Given the description of an element on the screen output the (x, y) to click on. 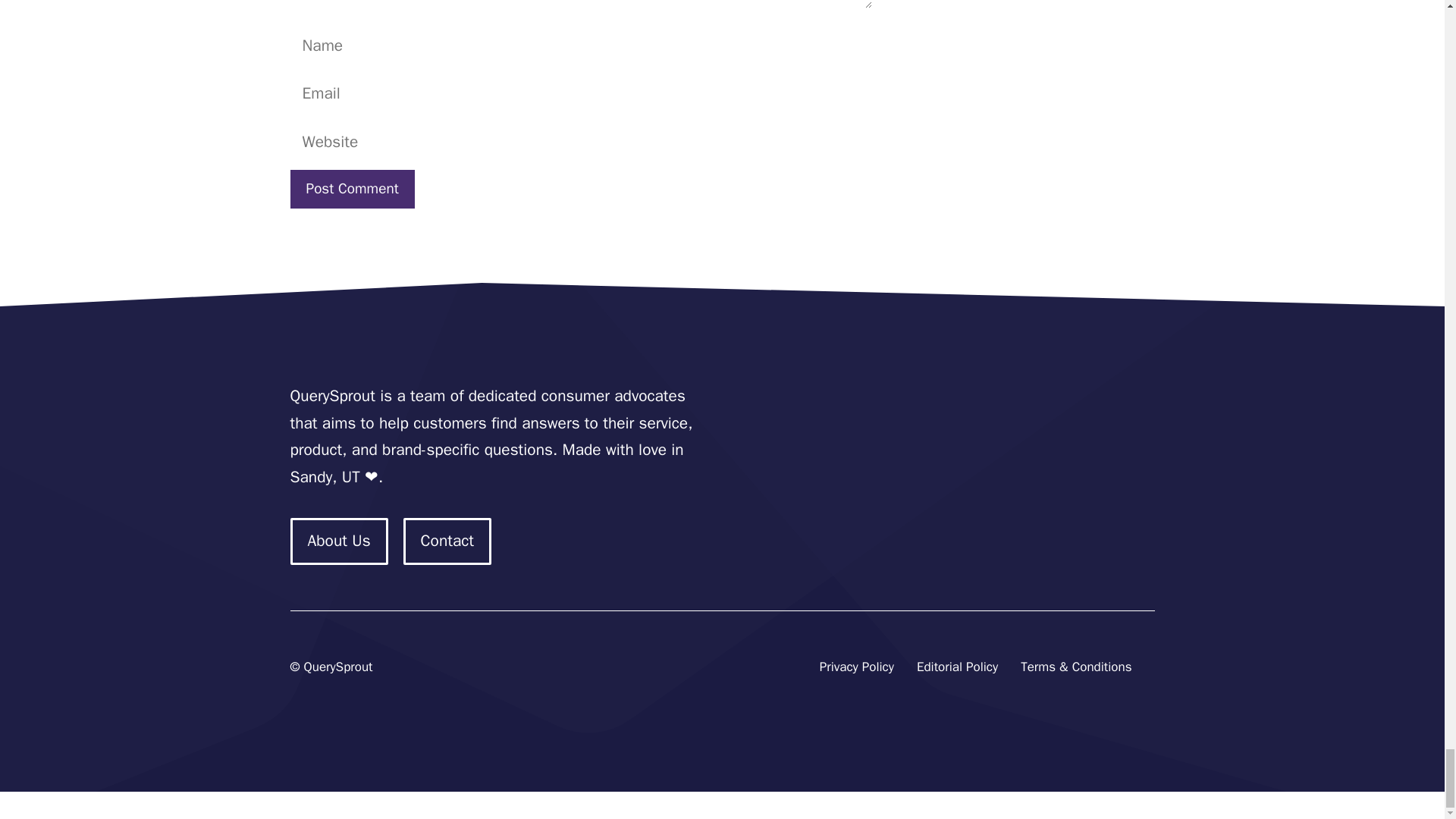
Post Comment (351, 188)
